Given the description of an element on the screen output the (x, y) to click on. 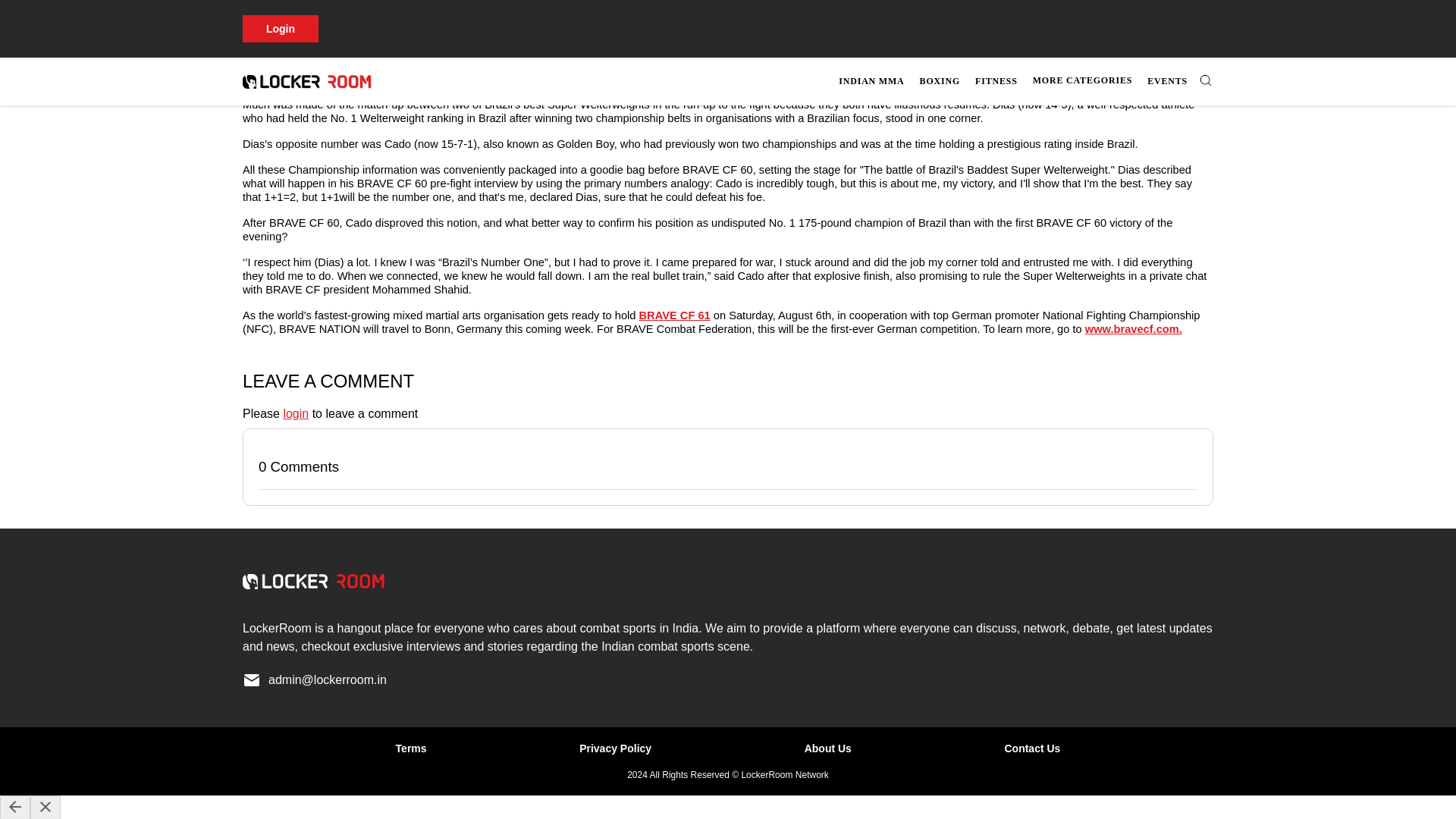
Advertisement (698, 21)
BRAVE CF 60 (652, 64)
BRAVE CF 61 (674, 315)
www.bravecf.com. (1133, 328)
